Given the description of an element on the screen output the (x, y) to click on. 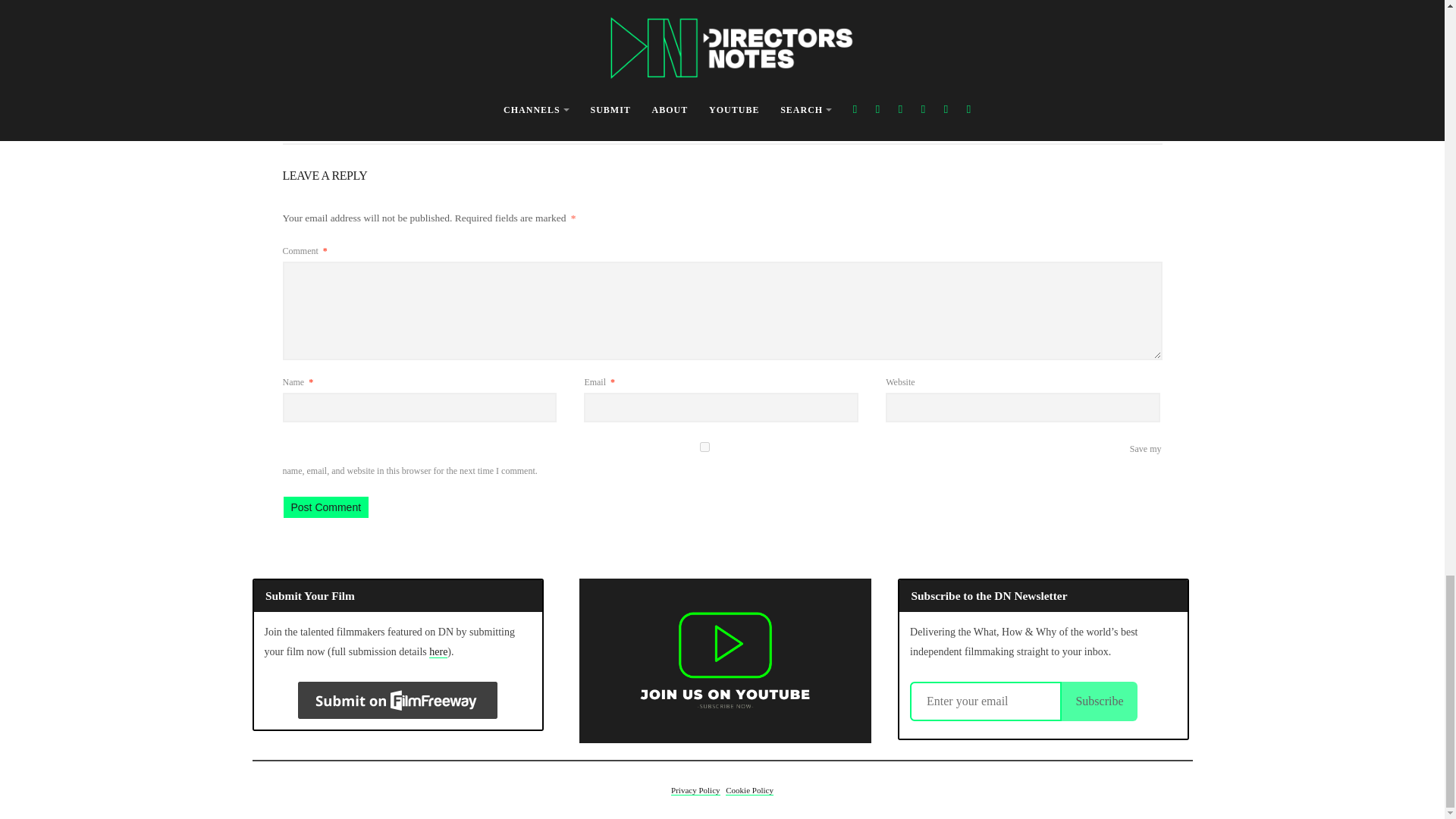
yes (704, 447)
Vowels (595, 93)
Post Comment (326, 506)
Vowels (595, 93)
Vowels (717, 42)
